Given the description of an element on the screen output the (x, y) to click on. 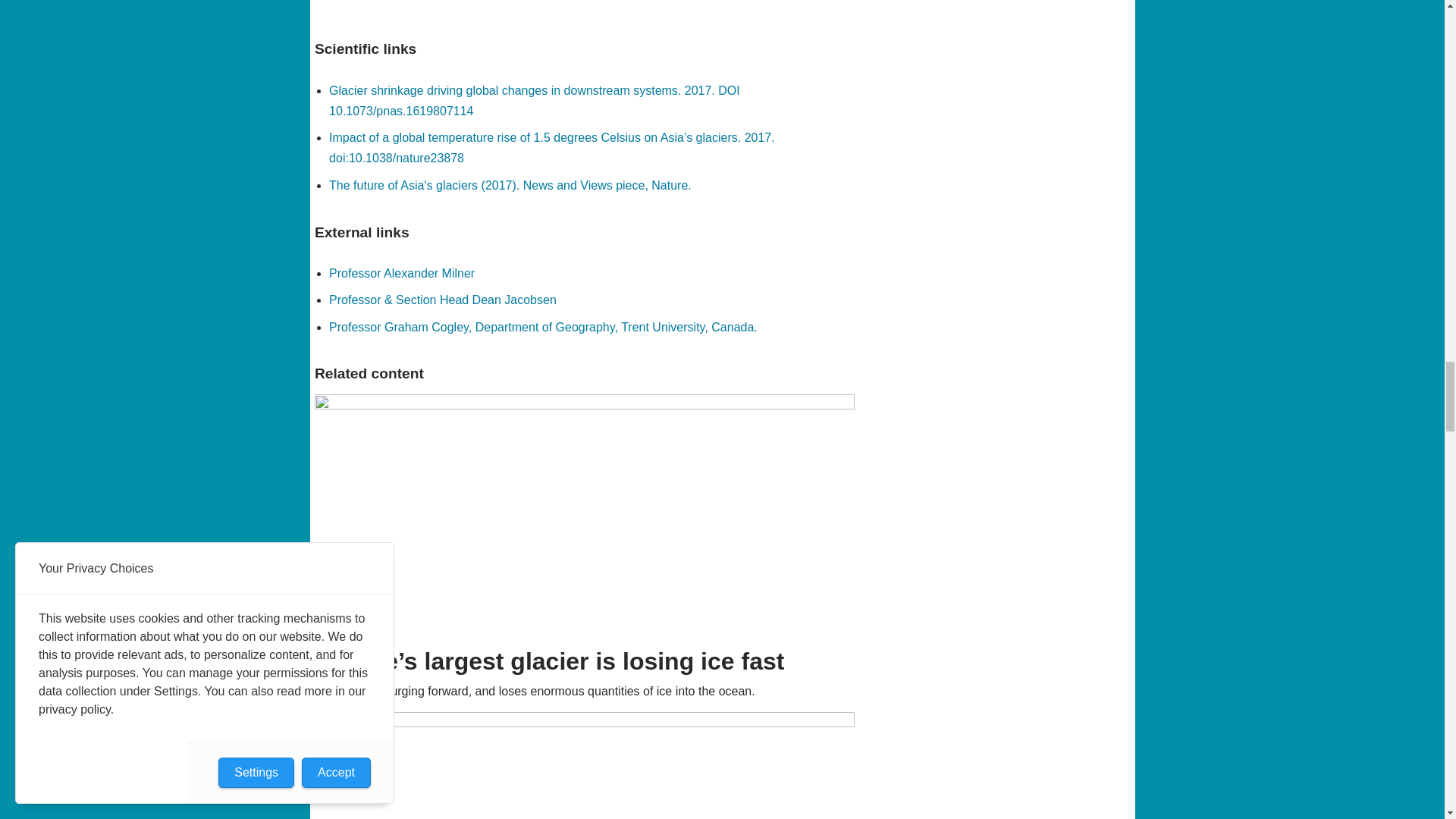
Glacier reveals 5,400-year-old Stone Age arrow (585, 765)
